Given the description of an element on the screen output the (x, y) to click on. 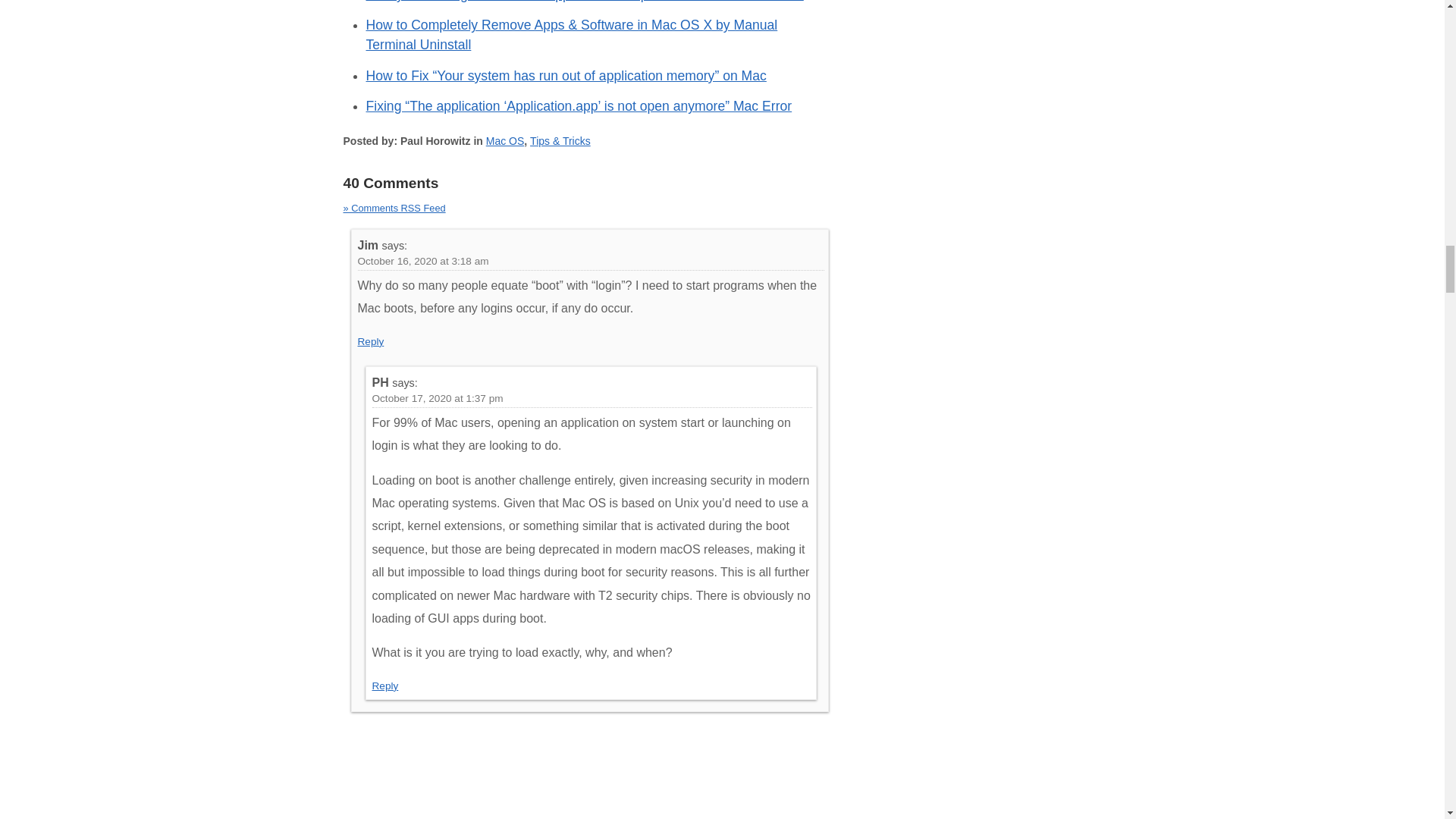
October 16, 2020 at 3:18 am (423, 260)
October 17, 2020 at 1:37 pm (436, 398)
Reply (371, 341)
Mac OS (505, 141)
Reply (384, 685)
